Given the description of an element on the screen output the (x, y) to click on. 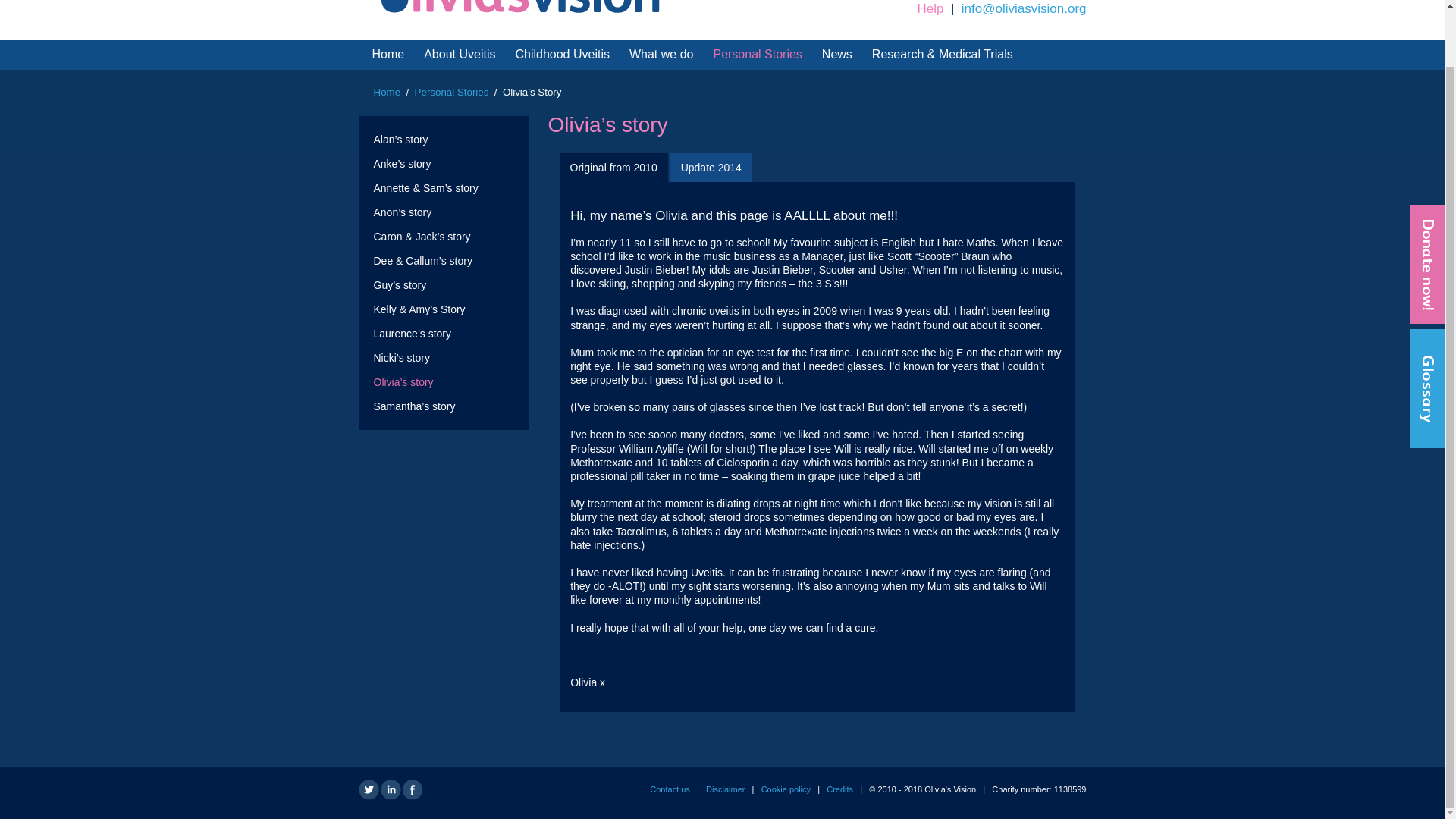
Childhood Uveitis (562, 54)
Help (930, 8)
What we do (661, 54)
Home (388, 54)
About Uveitis (459, 54)
Personal Stories (451, 91)
